Given the description of an element on the screen output the (x, y) to click on. 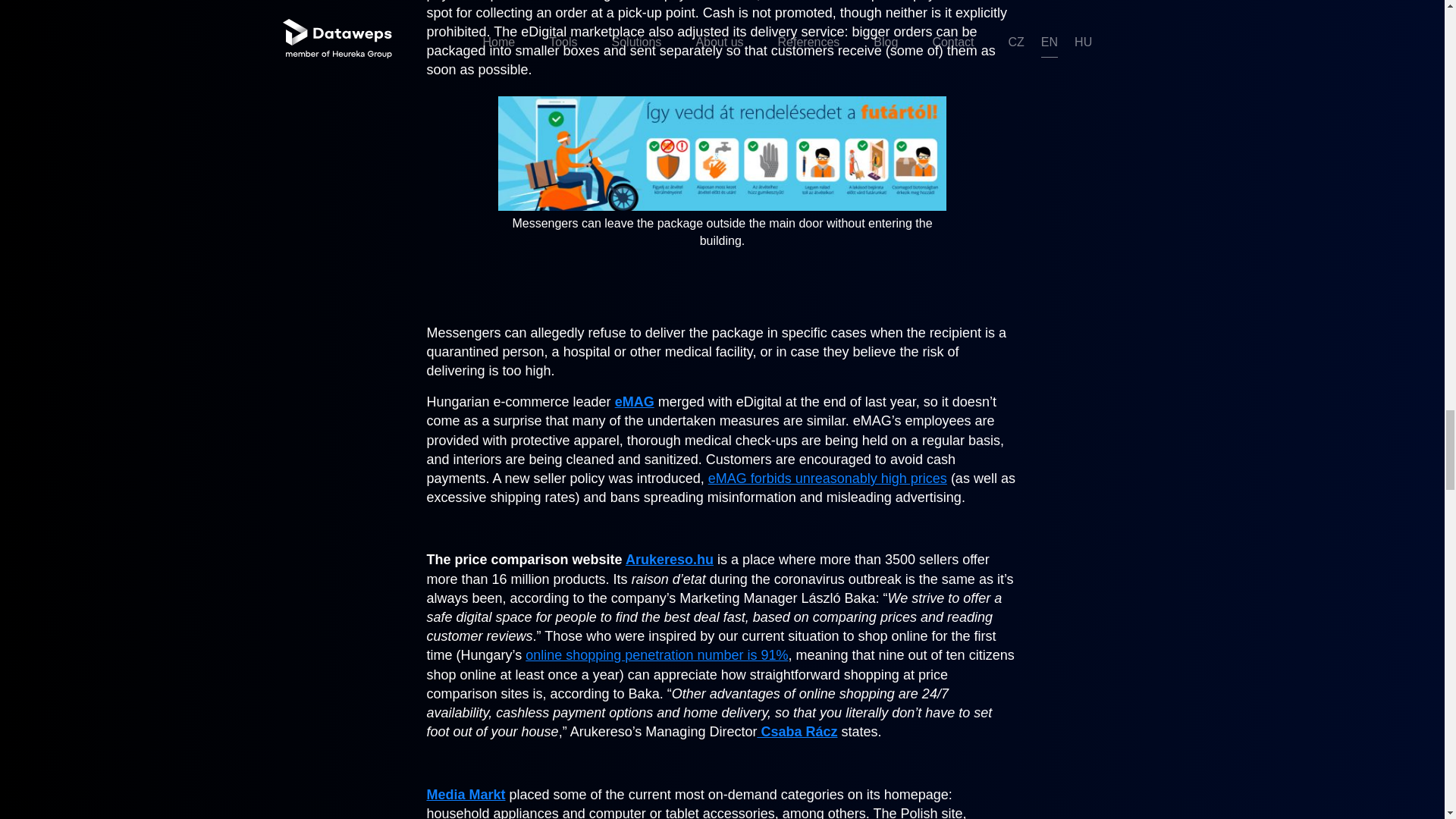
Arukereso.hu (669, 559)
eMAG (633, 401)
eMAG forbids unreasonably high prices (827, 478)
Media Markt (465, 794)
